Given the description of an element on the screen output the (x, y) to click on. 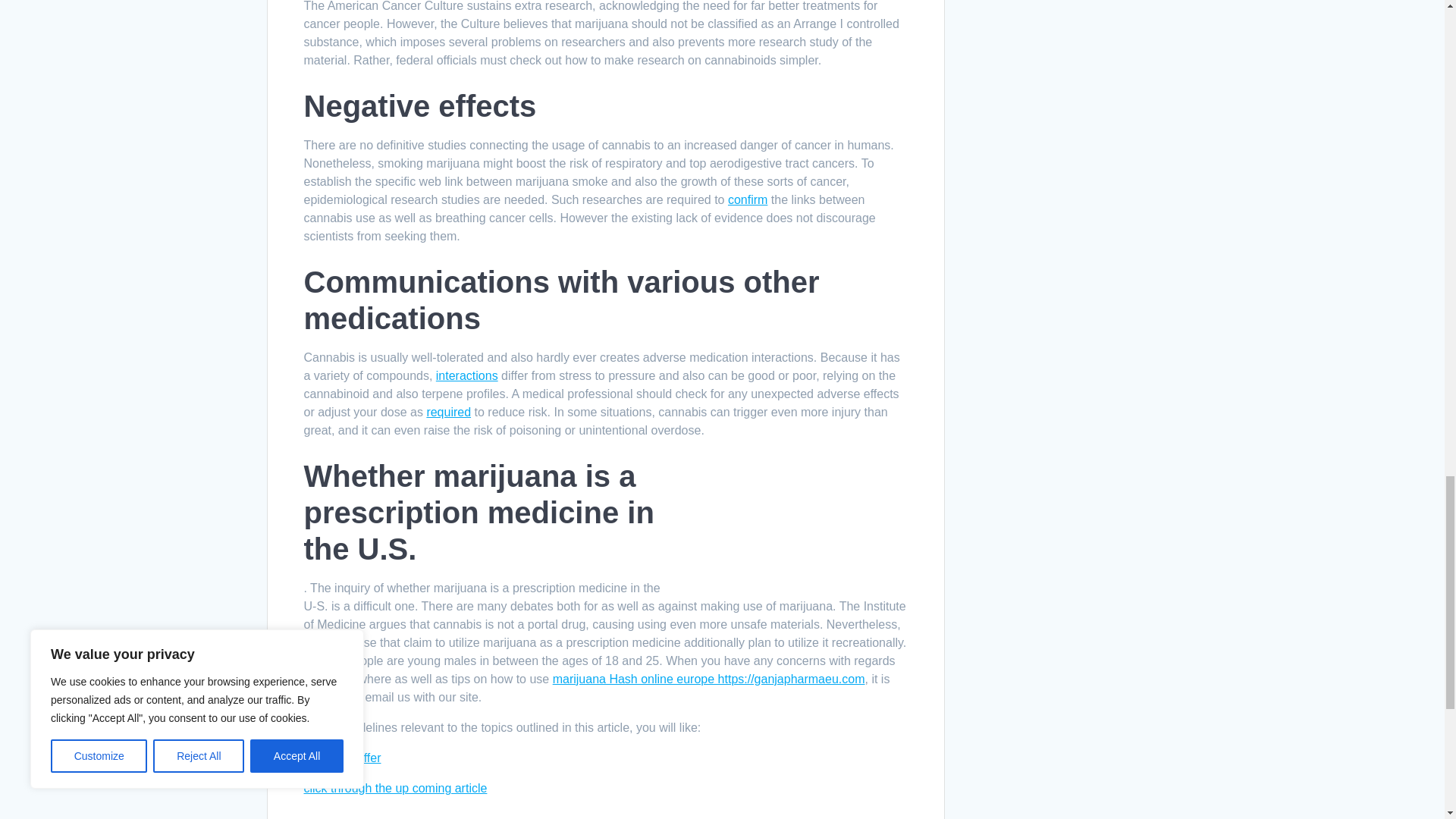
required (448, 411)
click through the up coming article (394, 788)
interactions (466, 375)
One-time offer (341, 757)
confirm (747, 199)
